Given the description of an element on the screen output the (x, y) to click on. 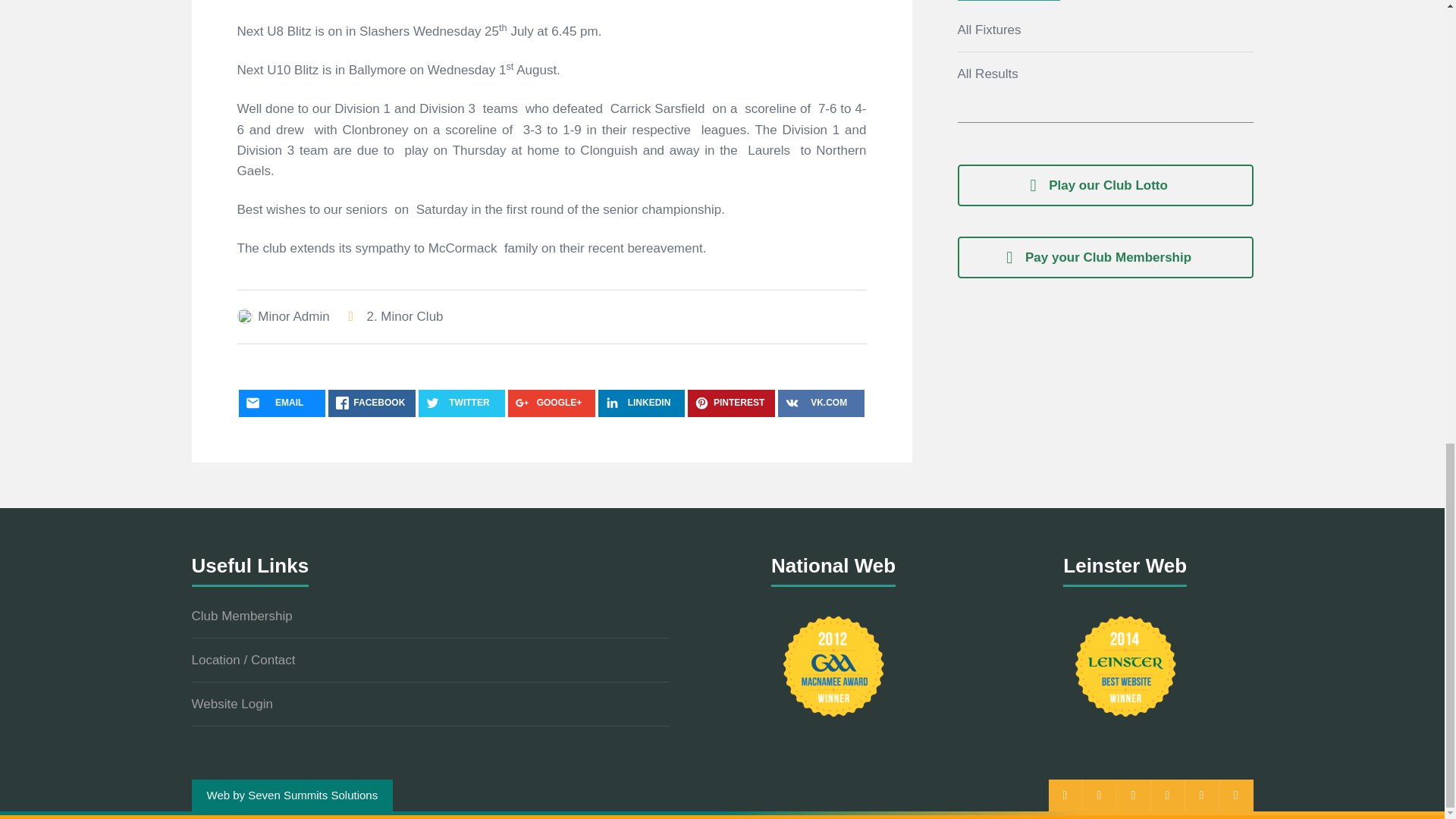
Leinster Web (1125, 666)
National Web (832, 666)
